Given the description of an element on the screen output the (x, y) to click on. 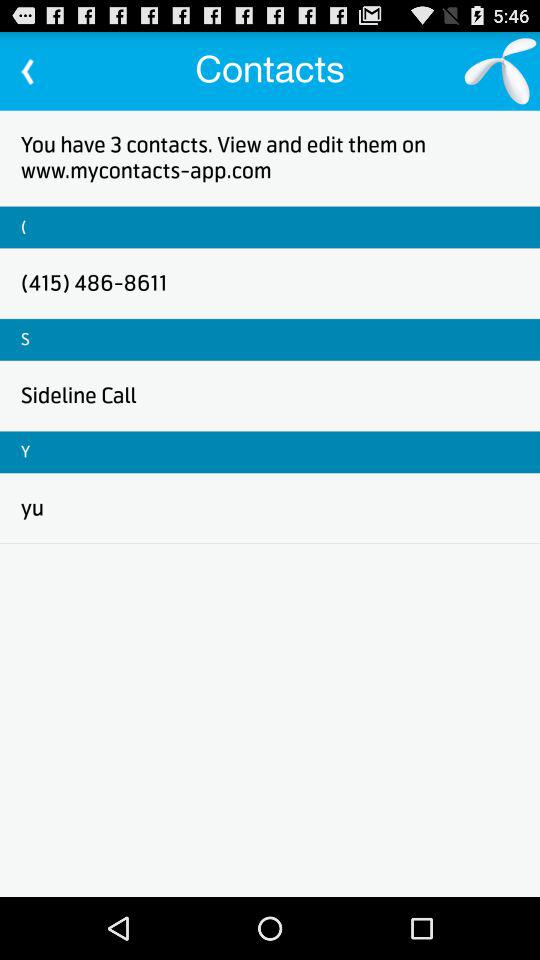
scroll until yu item (32, 507)
